Given the description of an element on the screen output the (x, y) to click on. 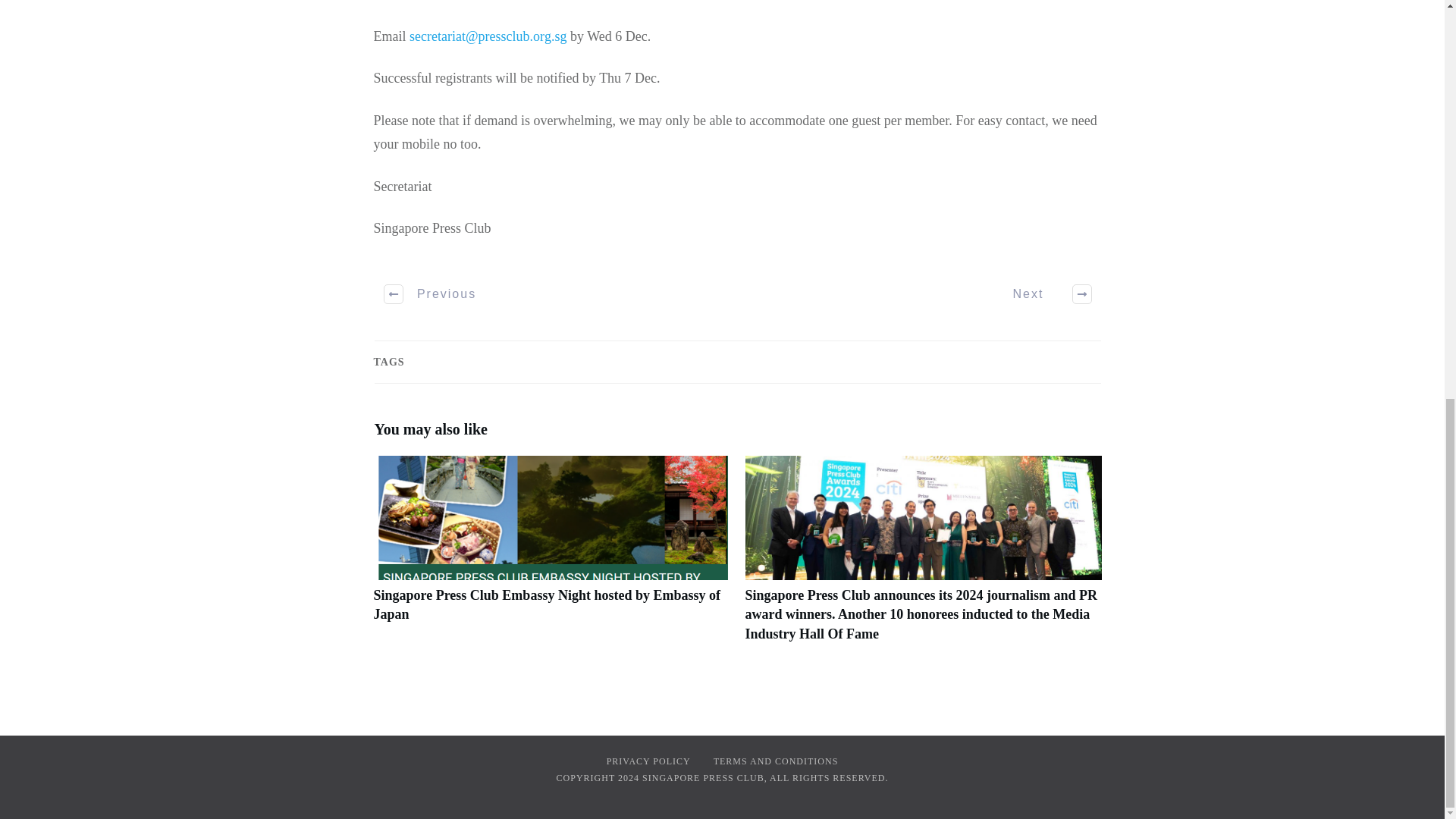
Previous (430, 293)
Next (1043, 293)
